Given the description of an element on the screen output the (x, y) to click on. 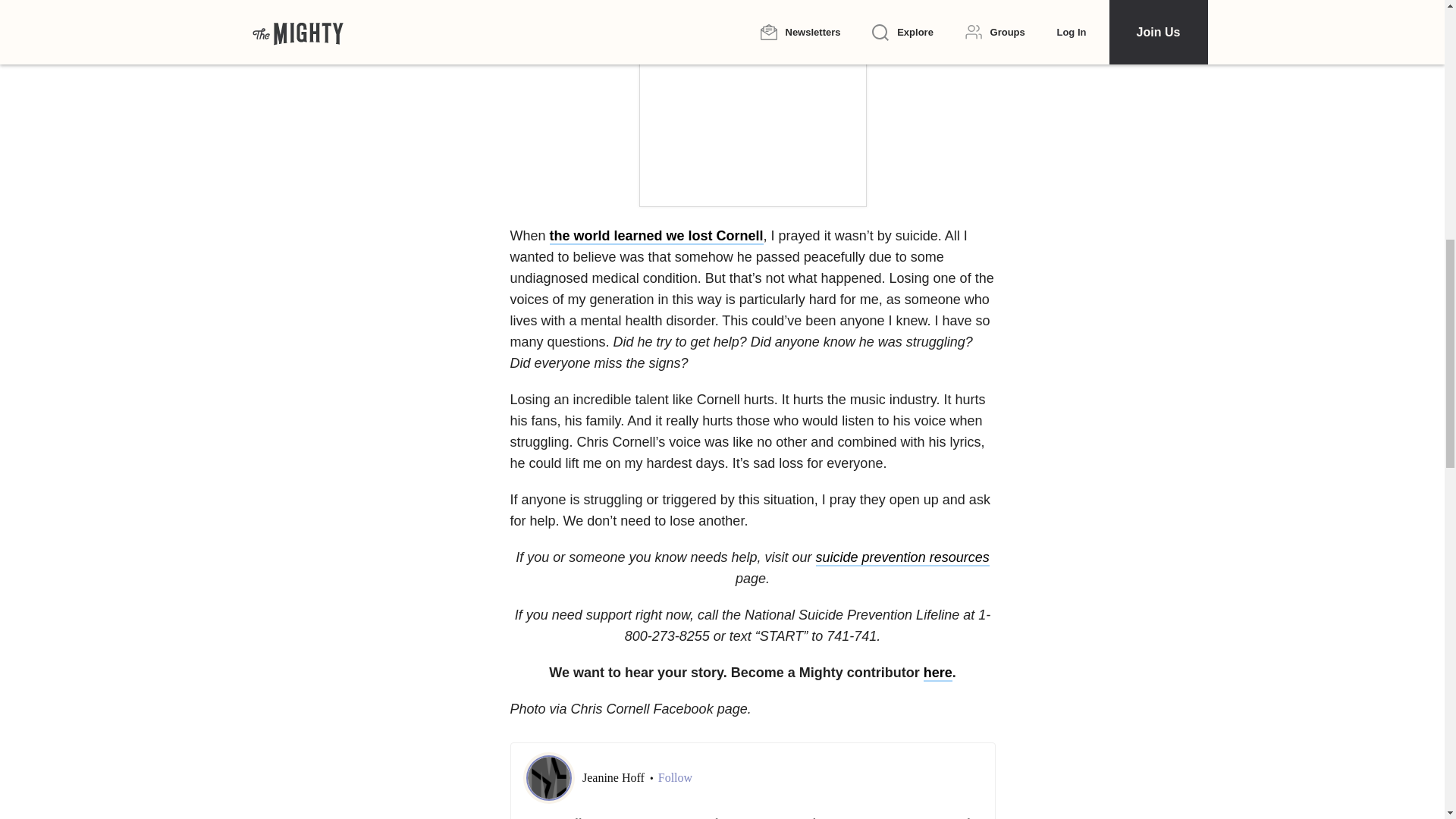
Follow (675, 777)
suicide prevention resources (902, 557)
Jeanine Hoff (614, 777)
the world learned we lost Cornell (656, 236)
here (937, 673)
